Given the description of an element on the screen output the (x, y) to click on. 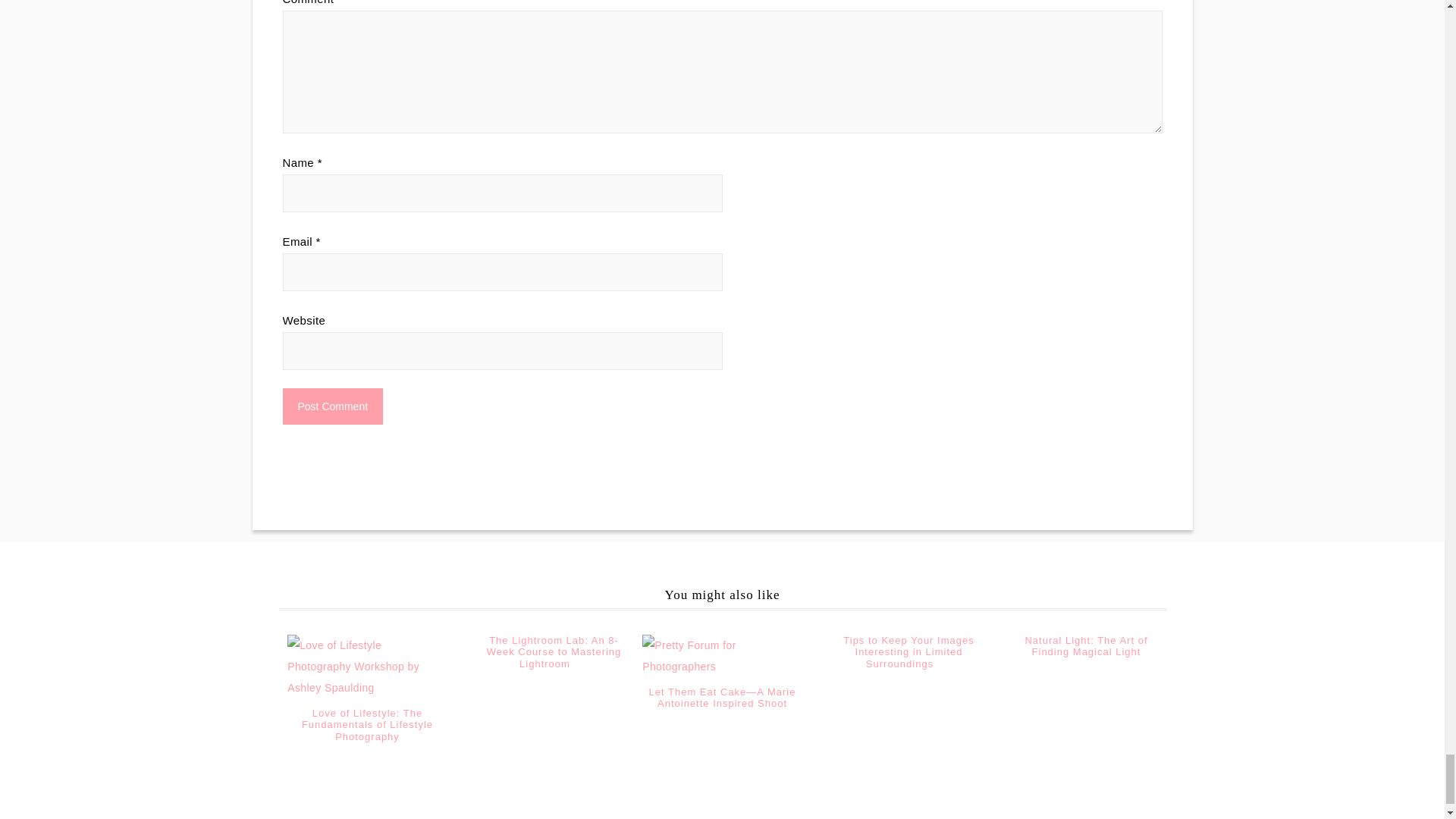
Post Comment (332, 406)
